Given the description of an element on the screen output the (x, y) to click on. 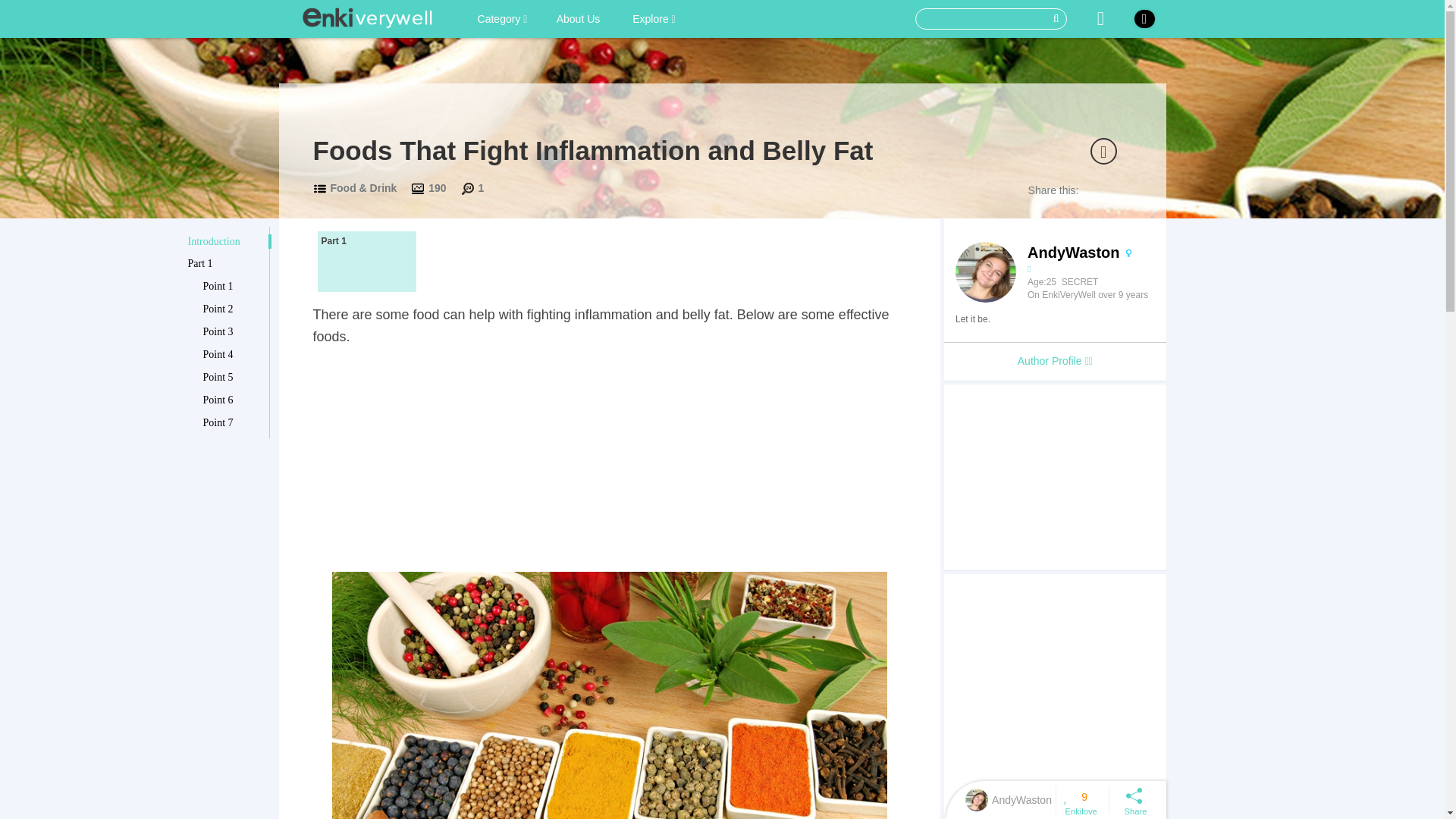
Jump to Part 1-2 (365, 260)
Point 3 (233, 331)
Point 4 (233, 354)
Point 2 (233, 309)
Part 1 (365, 260)
Category (502, 18)
Author Profile (1054, 361)
Explore (653, 18)
Advertisement (1054, 696)
Point 7 (233, 422)
Point 5 (233, 377)
Advertisement (609, 461)
Point 1 (233, 286)
Advertisement (1054, 477)
Part 1 (225, 263)
